Given the description of an element on the screen output the (x, y) to click on. 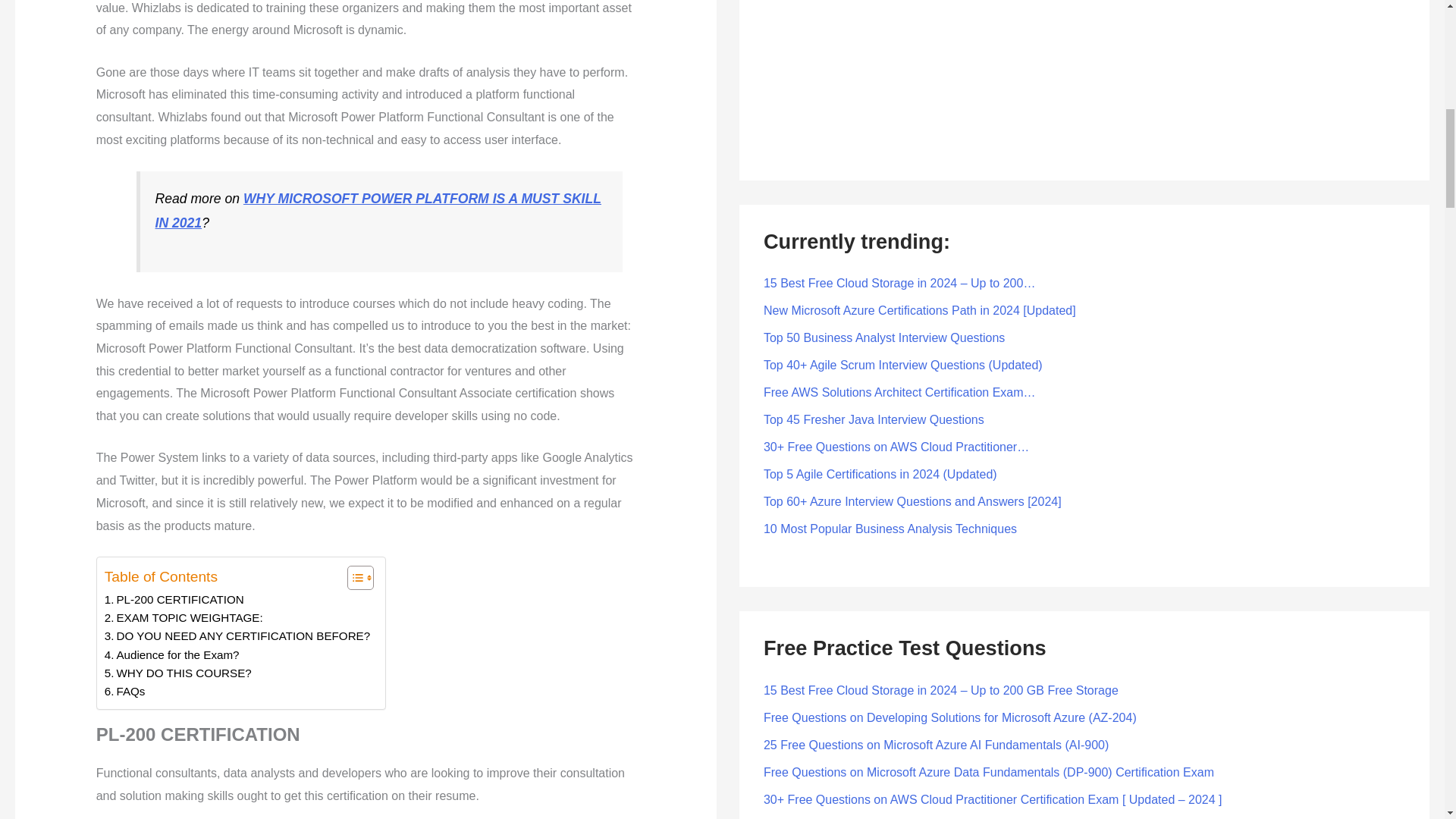
Audience for the Exam? (172, 655)
FAQs (124, 691)
DO YOU NEED ANY CERTIFICATION BEFORE? (236, 636)
FAQs (124, 691)
EXAM TOPIC WEIGHTAGE: (183, 618)
PL-200 CERTIFICATION (174, 599)
WHY DO THIS COURSE? (177, 673)
Audience for the Exam? (172, 655)
DO YOU NEED ANY CERTIFICATION BEFORE? (236, 636)
PL-200 CERTIFICATION (174, 599)
WHY MICROSOFT POWER PLATFORM IS A MUST SKILL IN 2021 (378, 210)
EXAM TOPIC WEIGHTAGE: (183, 618)
WHY DO THIS COURSE? (177, 673)
